Given the description of an element on the screen output the (x, y) to click on. 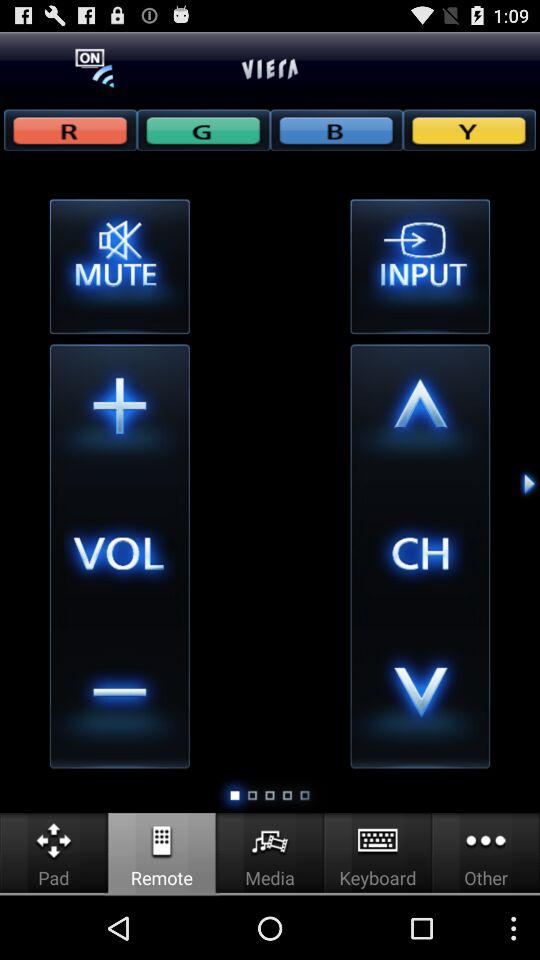
yellow button (469, 129)
